Given the description of an element on the screen output the (x, y) to click on. 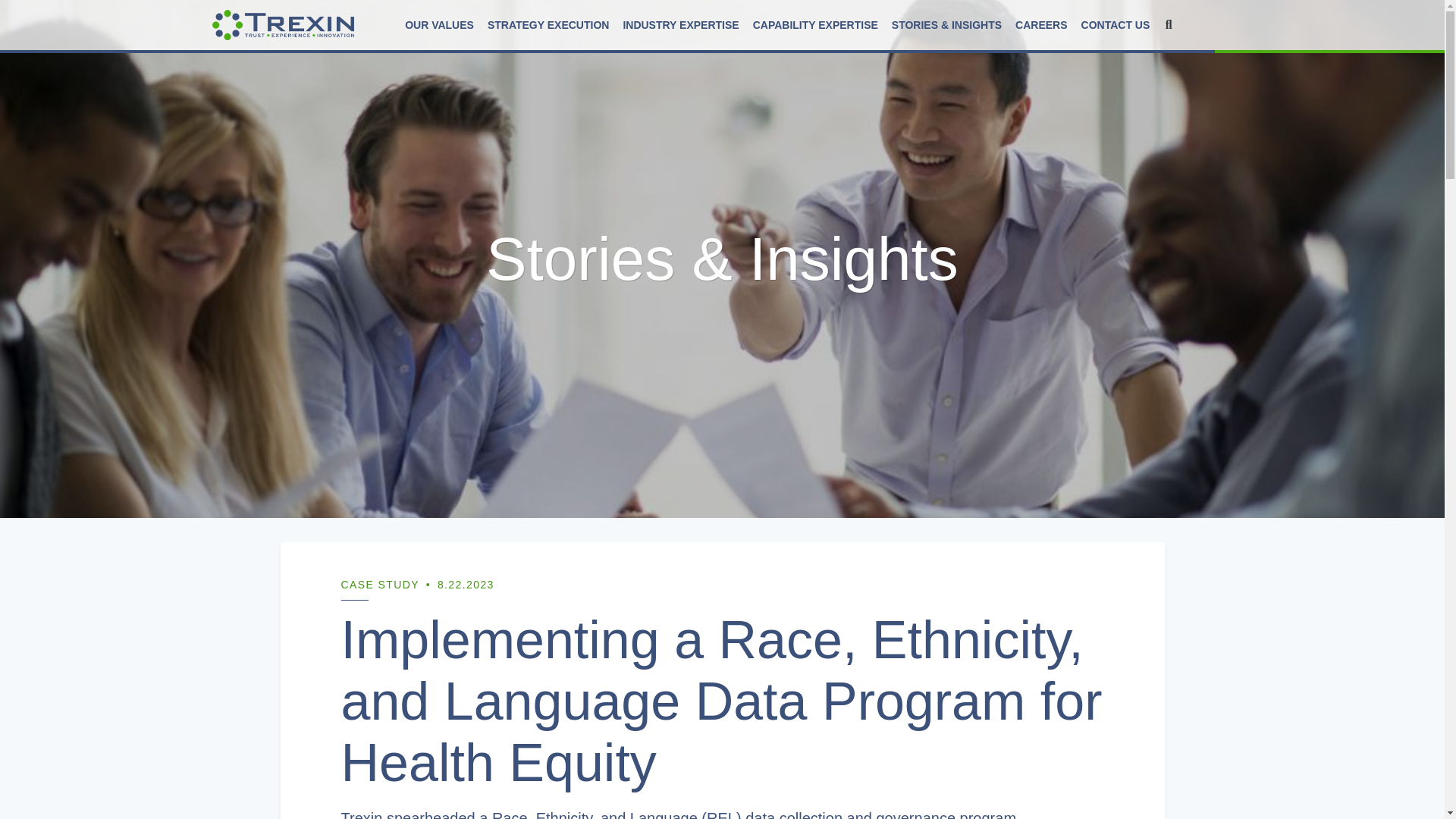
CAPABILITY EXPERTISE (815, 24)
OUR VALUES (438, 24)
INDUSTRY EXPERTISE (680, 24)
STRATEGY EXECUTION (547, 24)
